Given the description of an element on the screen output the (x, y) to click on. 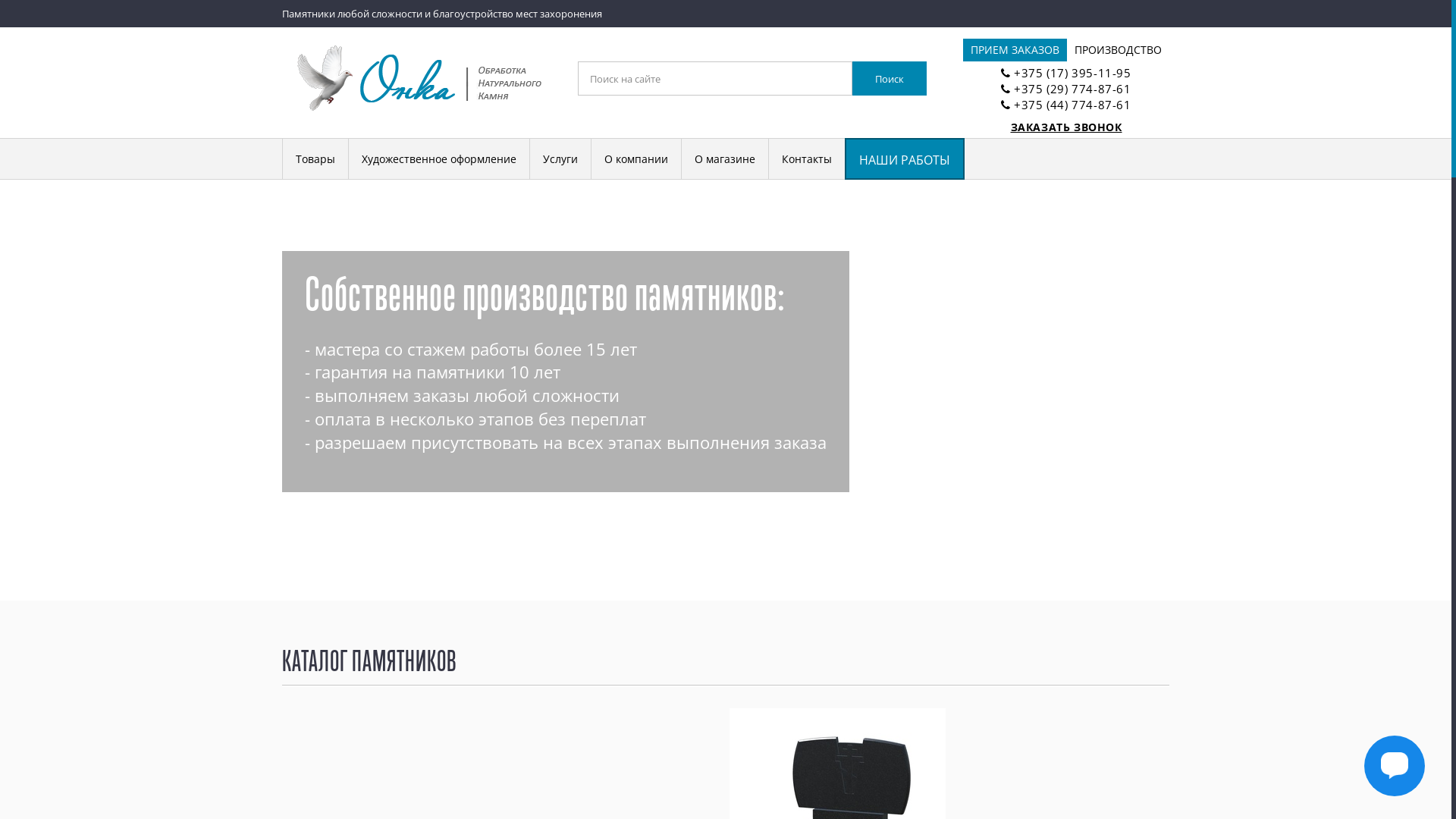
+375 (44) 774-87-61 Element type: text (1071, 104)
+375 (17) 395-11-95 Element type: text (1071, 72)
+375 (29) 774-87-61 Element type: text (1071, 88)
